Given the description of an element on the screen output the (x, y) to click on. 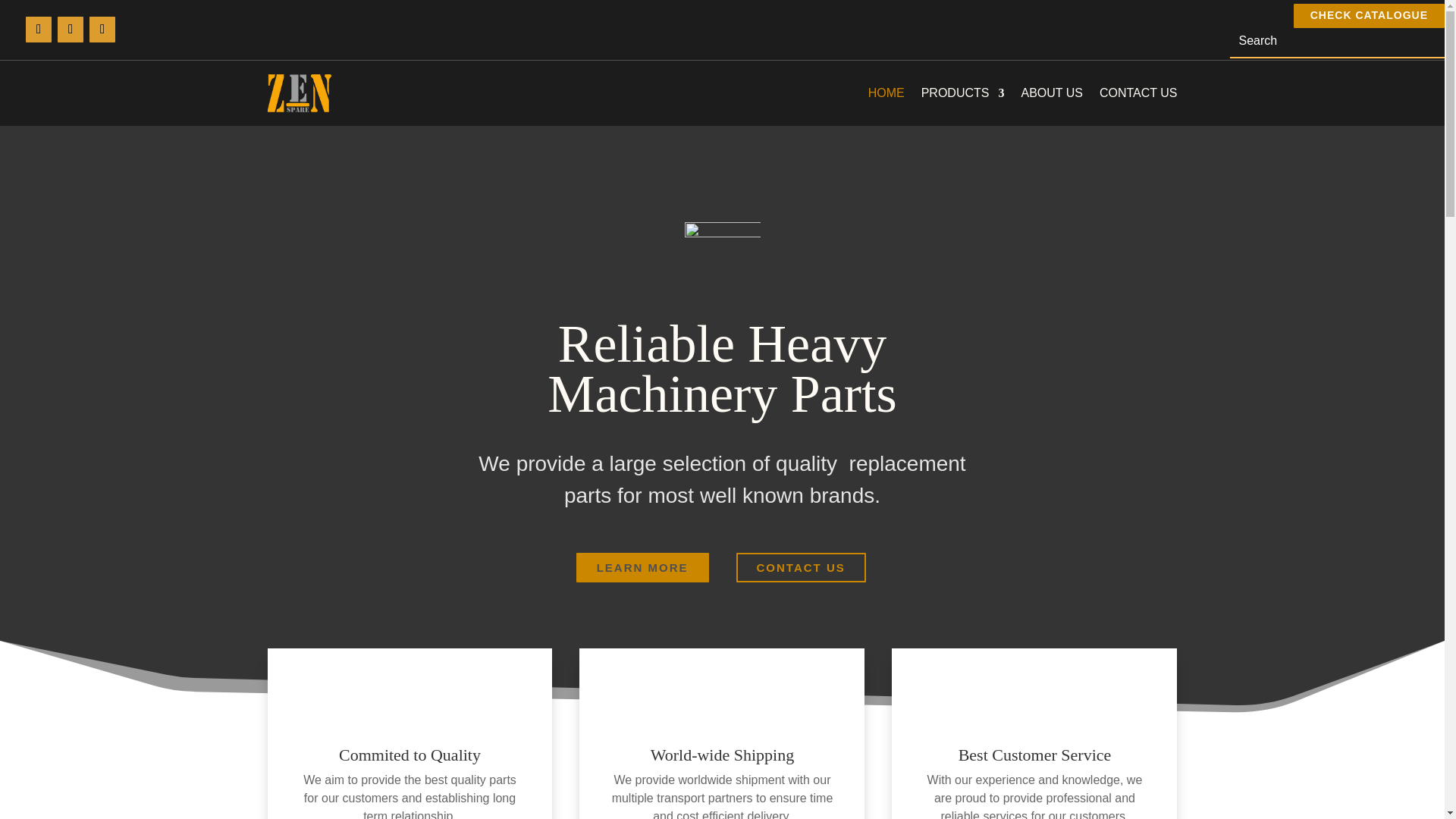
Follow on Instagram (70, 29)
LEARN MORE (642, 567)
Search (24, 15)
tools-6 (722, 259)
CONTACT US (1138, 93)
Follow on Facebook (38, 29)
Follow on WhatsApp (101, 29)
CONTACT US (799, 567)
PRODUCTS (962, 93)
ABOUT US (1051, 93)
